Given the description of an element on the screen output the (x, y) to click on. 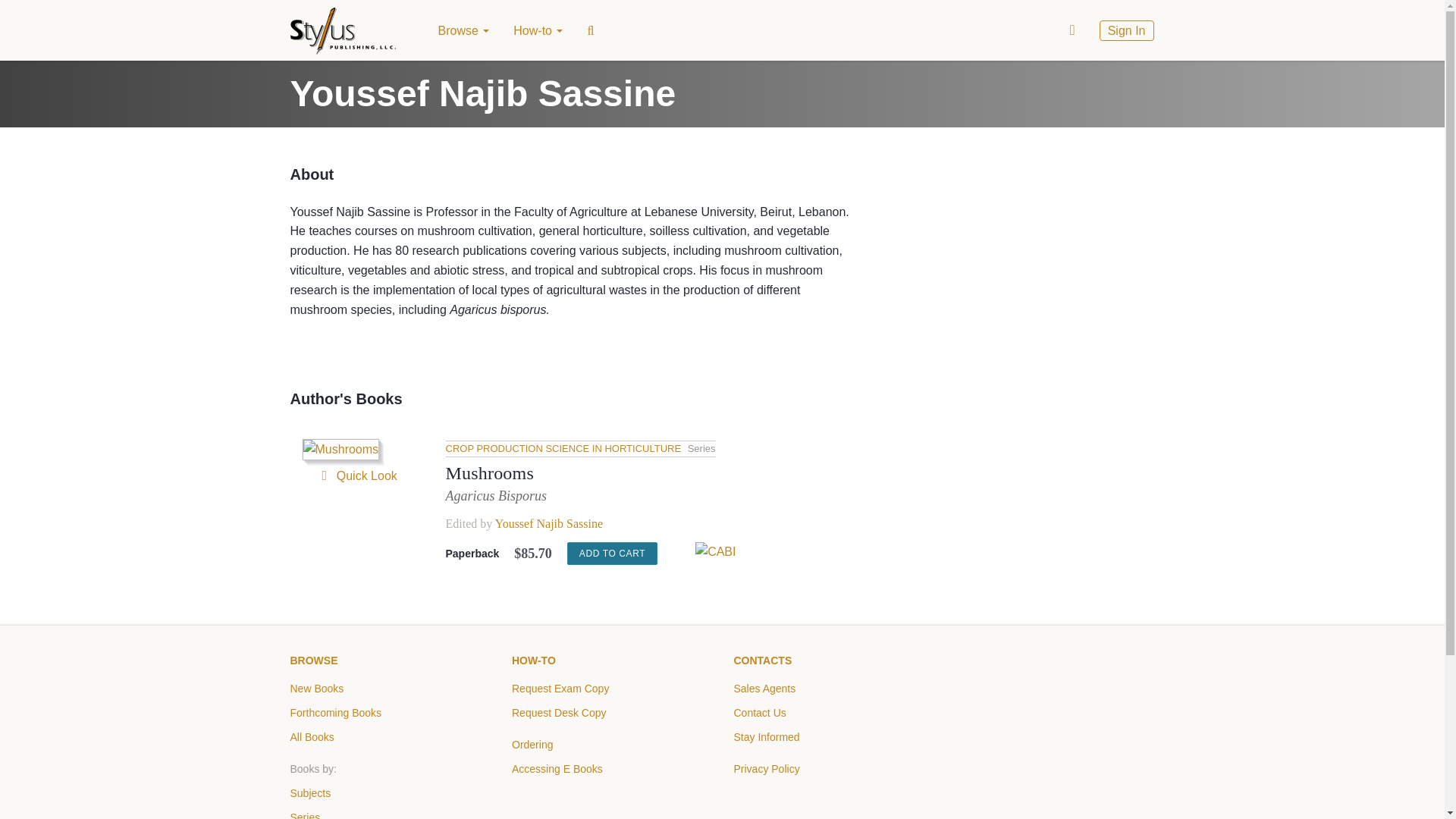
Sign In (1126, 30)
Youssef Najib Sassine (548, 522)
ADD TO CART (612, 553)
Quick Look (356, 474)
How-to (537, 30)
Mushrooms (489, 473)
Browse (464, 30)
CROP PRODUCTION SCIENCE IN HORTICULTURE (564, 448)
